Given the description of an element on the screen output the (x, y) to click on. 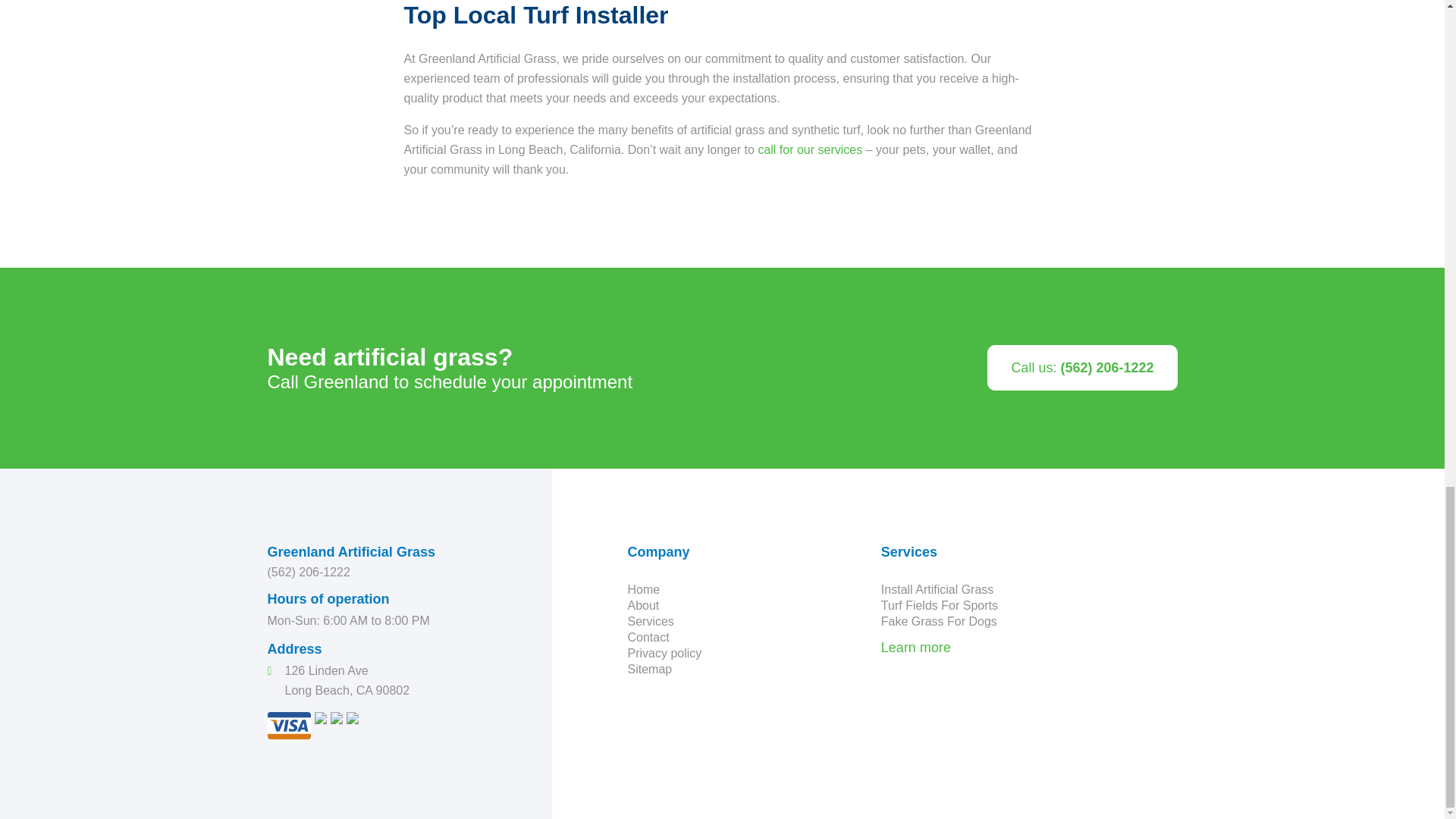
Home (644, 589)
Privacy policy (664, 653)
About (643, 604)
Services (650, 621)
call for our services (809, 149)
Sitemap (649, 668)
Contact (648, 636)
